Given the description of an element on the screen output the (x, y) to click on. 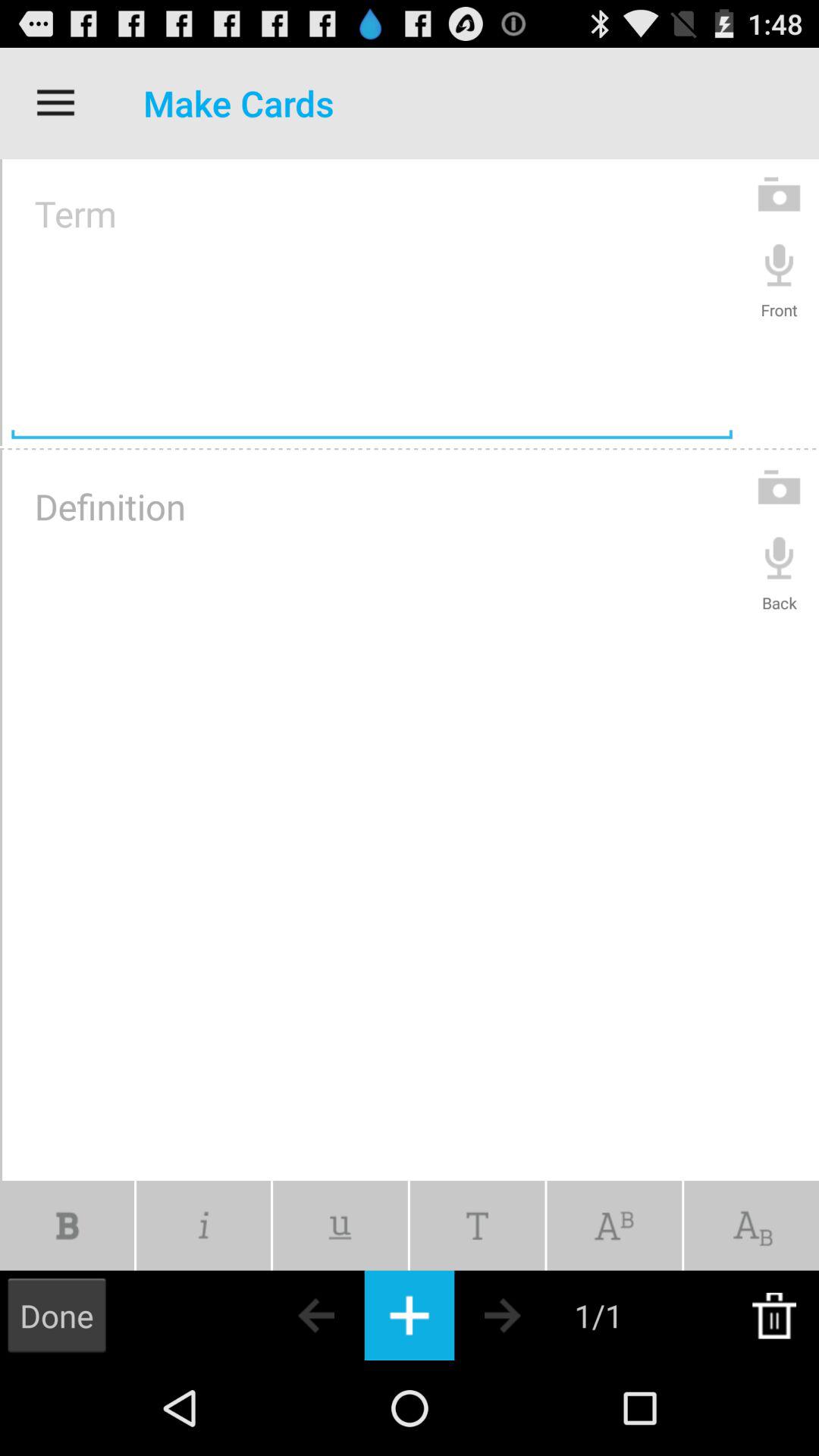
add text (477, 1225)
